Given the description of an element on the screen output the (x, y) to click on. 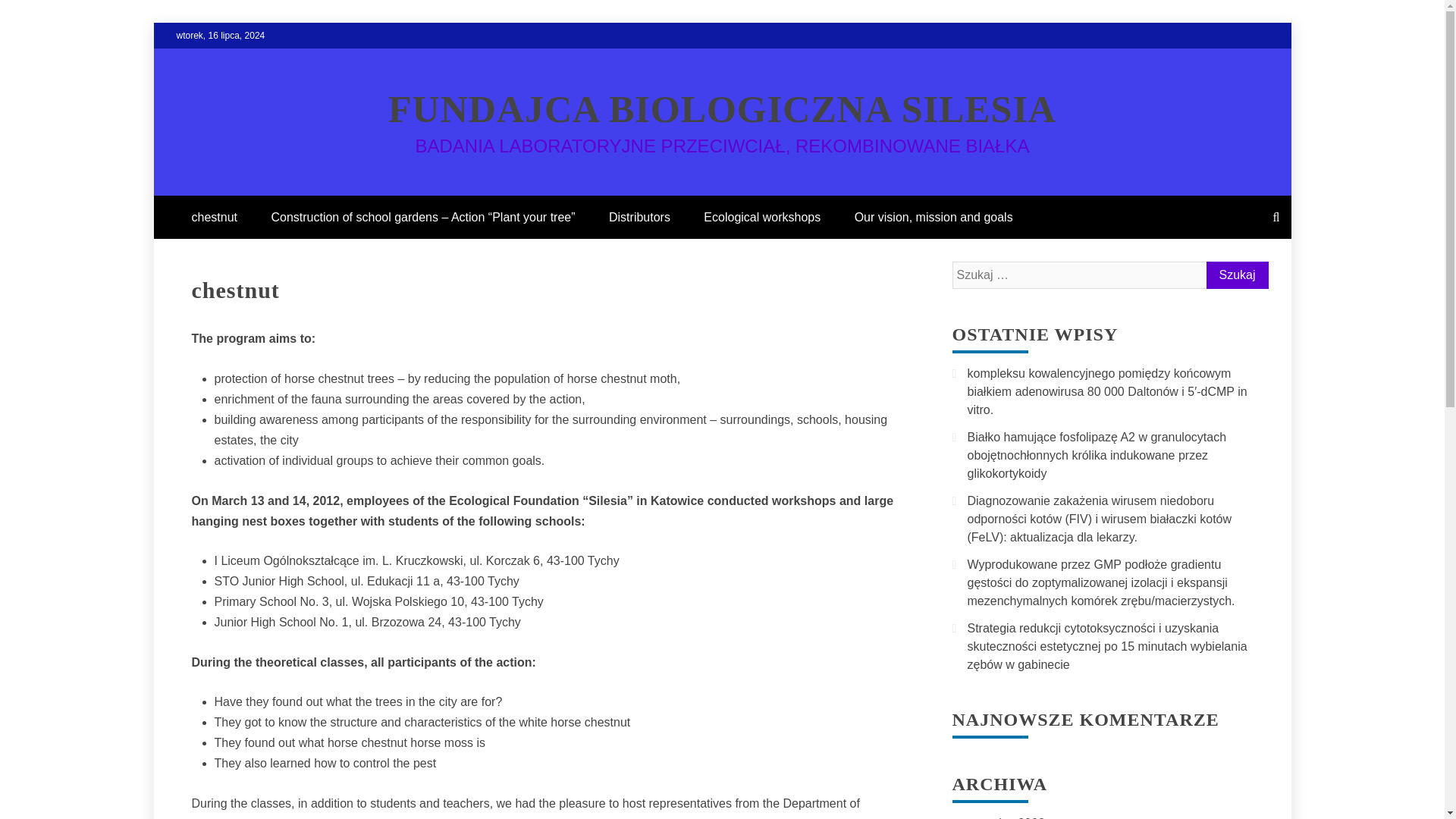
Szukaj (1236, 275)
Ecological workshops (761, 217)
czerwiec 2022 (1006, 817)
chestnut (213, 217)
Distributors (639, 217)
Szukaj (1236, 275)
Our vision, mission and goals (933, 217)
FUNDAJCA BIOLOGICZNA SILESIA (722, 108)
Szukaj (1236, 275)
